Given the description of an element on the screen output the (x, y) to click on. 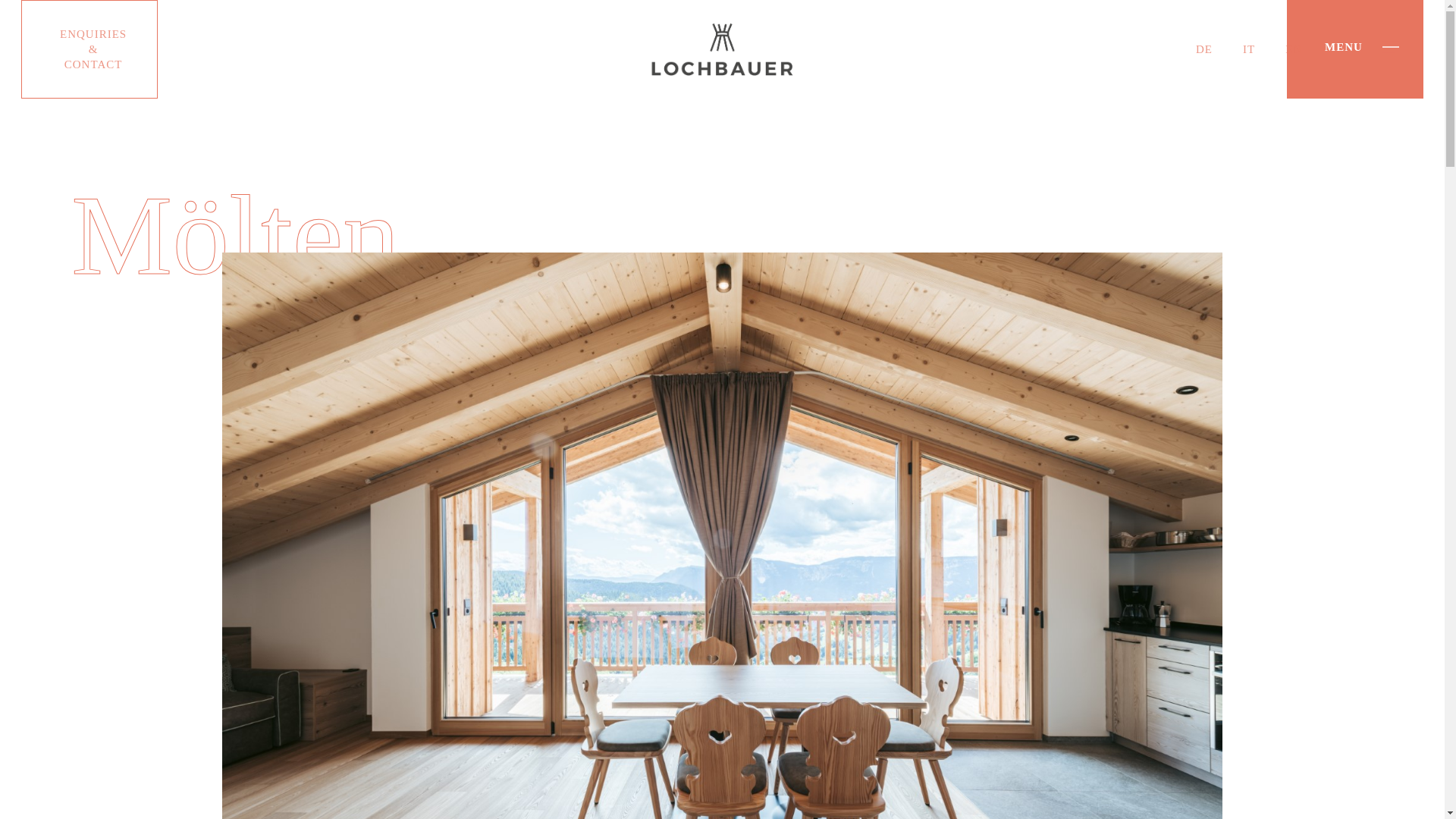
EN (1293, 48)
Menu (1390, 47)
IT (1248, 48)
DE (1203, 48)
DE (1203, 48)
IT (1248, 48)
EN (1293, 48)
